Given the description of an element on the screen output the (x, y) to click on. 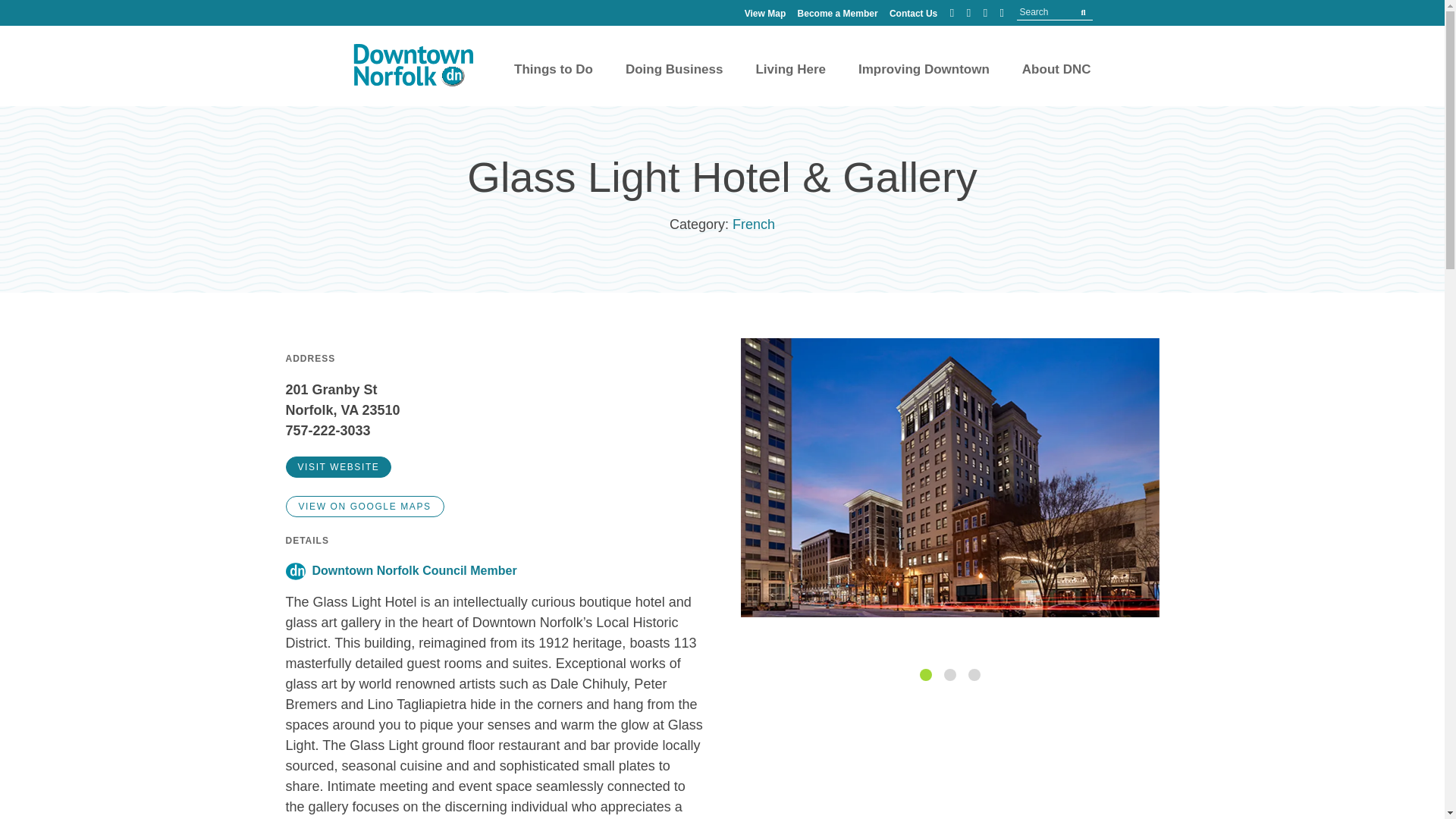
Contact Us (913, 13)
Things to Do (552, 80)
Become a Member (837, 13)
View Map (765, 13)
submit (1083, 12)
